Given the description of an element on the screen output the (x, y) to click on. 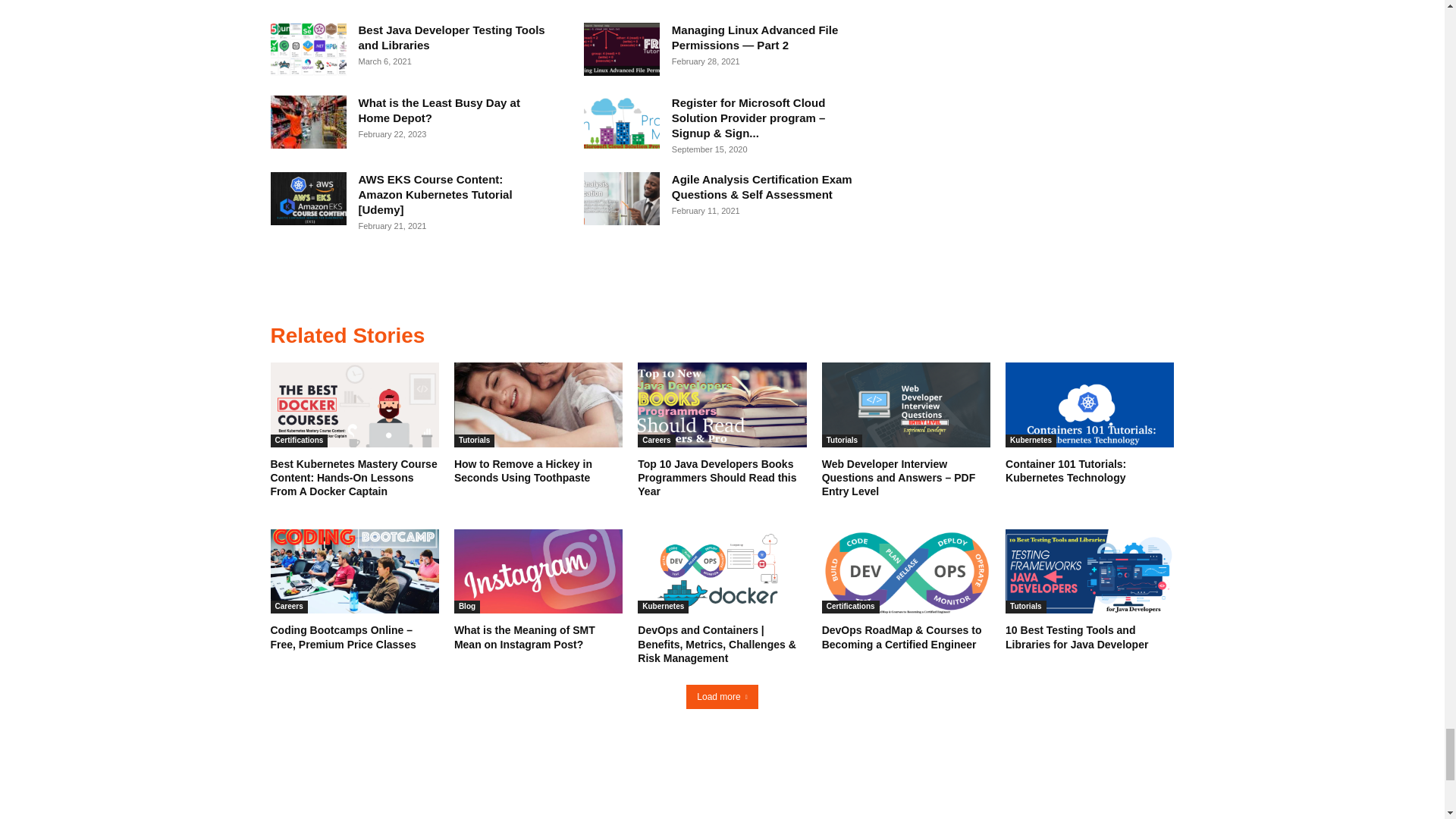
Best Java Developer Testing Tools and Libraries (451, 37)
Best Java Developer Testing Tools and Libraries (307, 49)
What is the Least Busy Day at Home Depot? (307, 121)
